Given the description of an element on the screen output the (x, y) to click on. 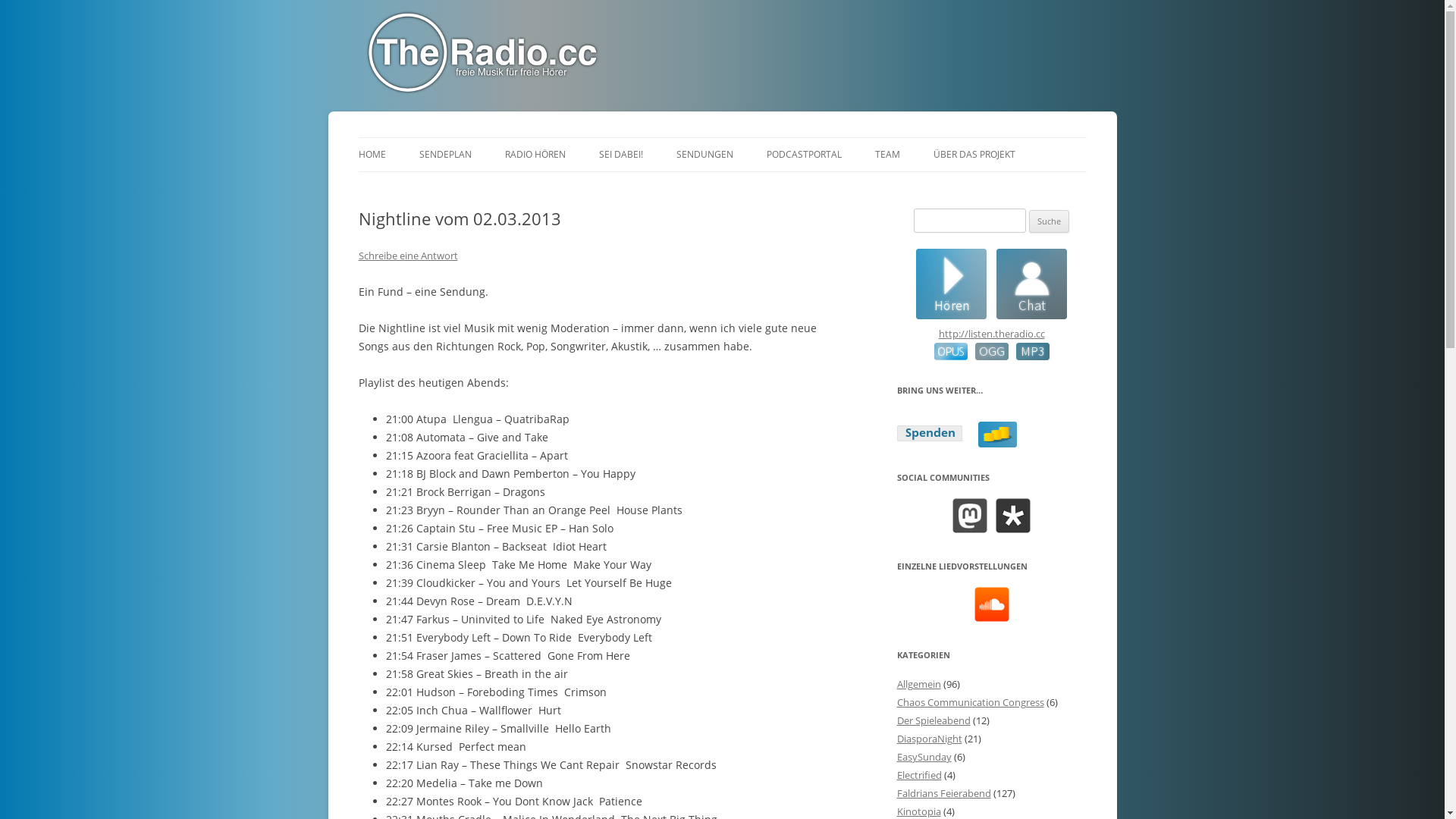
CHAT Element type: text (674, 186)
Chaos Communication Congress Element type: text (969, 702)
Electrified Element type: text (918, 774)
Mastodon* Element type: hover (969, 515)
OGG-Stream Element type: hover (987, 356)
http://listen.theradio.cc Element type: text (991, 333)
Zum Inhalt springen Element type: text (721, 137)
Diaspora* Element type: hover (1012, 515)
SEI DABEI! Element type: text (621, 154)
SENDUNGEN Element type: text (704, 154)
Soundcloud Element type: hover (991, 604)
OPUS-Stream Element type: hover (950, 356)
DIASPORANIGHT Element type: text (752, 186)
Faldrians Feierabend Element type: text (943, 793)
DiasporaNight Element type: text (928, 738)
PODCASTPORTAL Element type: text (802, 154)
Allgemein Element type: text (918, 683)
EasySunday Element type: text (923, 756)
Schreibe eine Antwort Element type: text (407, 255)
TheRadio.CC Element type: text (390, 105)
Kinotopia Element type: text (918, 811)
SENDEPLAN Element type: text (444, 154)
HOME Element type: text (371, 154)
Suche Element type: text (1049, 221)
TEAM Element type: text (887, 154)
Der Spieleabend Element type: text (932, 720)
